Given the description of an element on the screen output the (x, y) to click on. 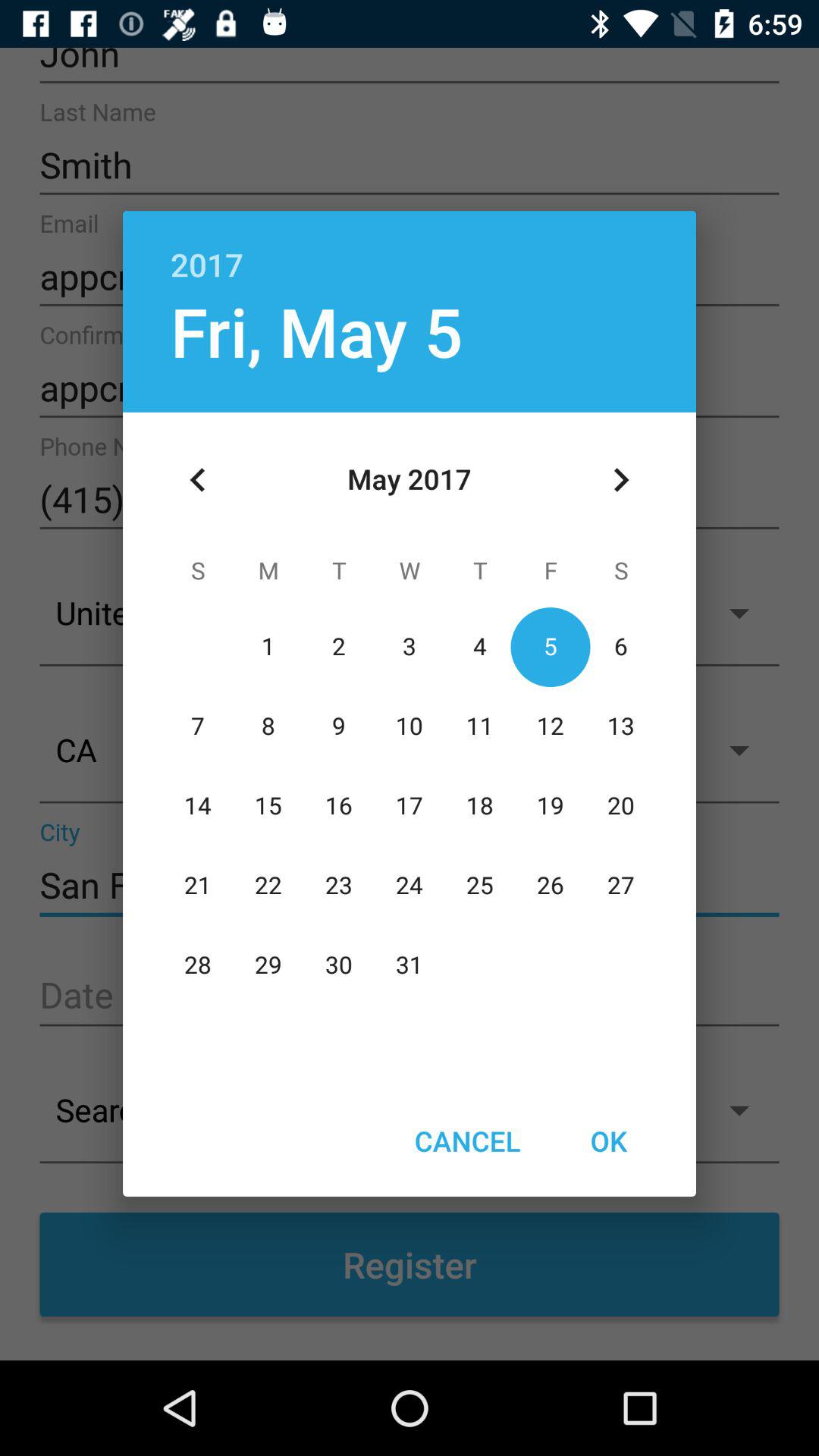
launch the icon next to ok (467, 1140)
